Given the description of an element on the screen output the (x, y) to click on. 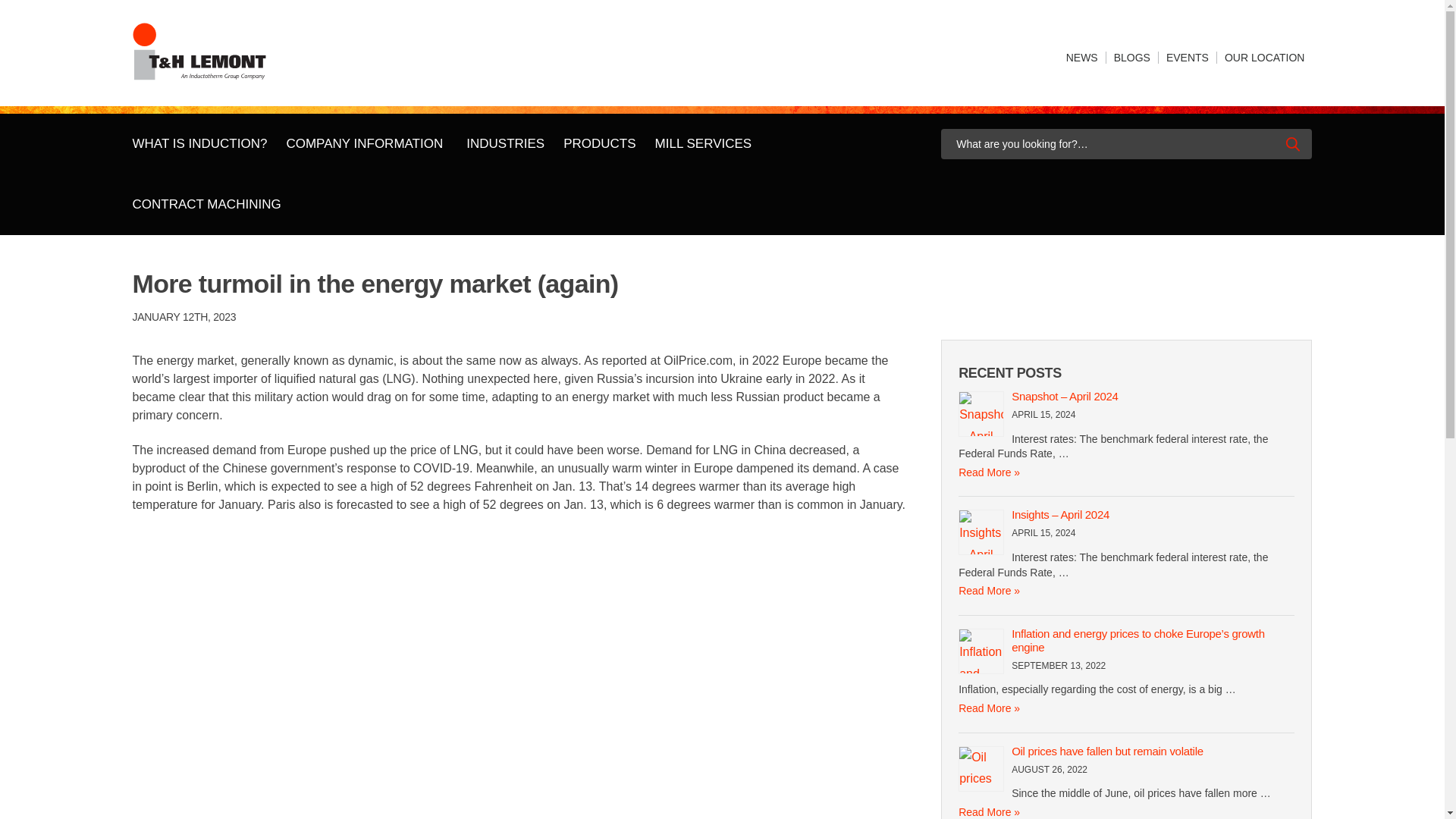
Search (1294, 143)
TH Lemont (199, 56)
Search (1294, 143)
